Given the description of an element on the screen output the (x, y) to click on. 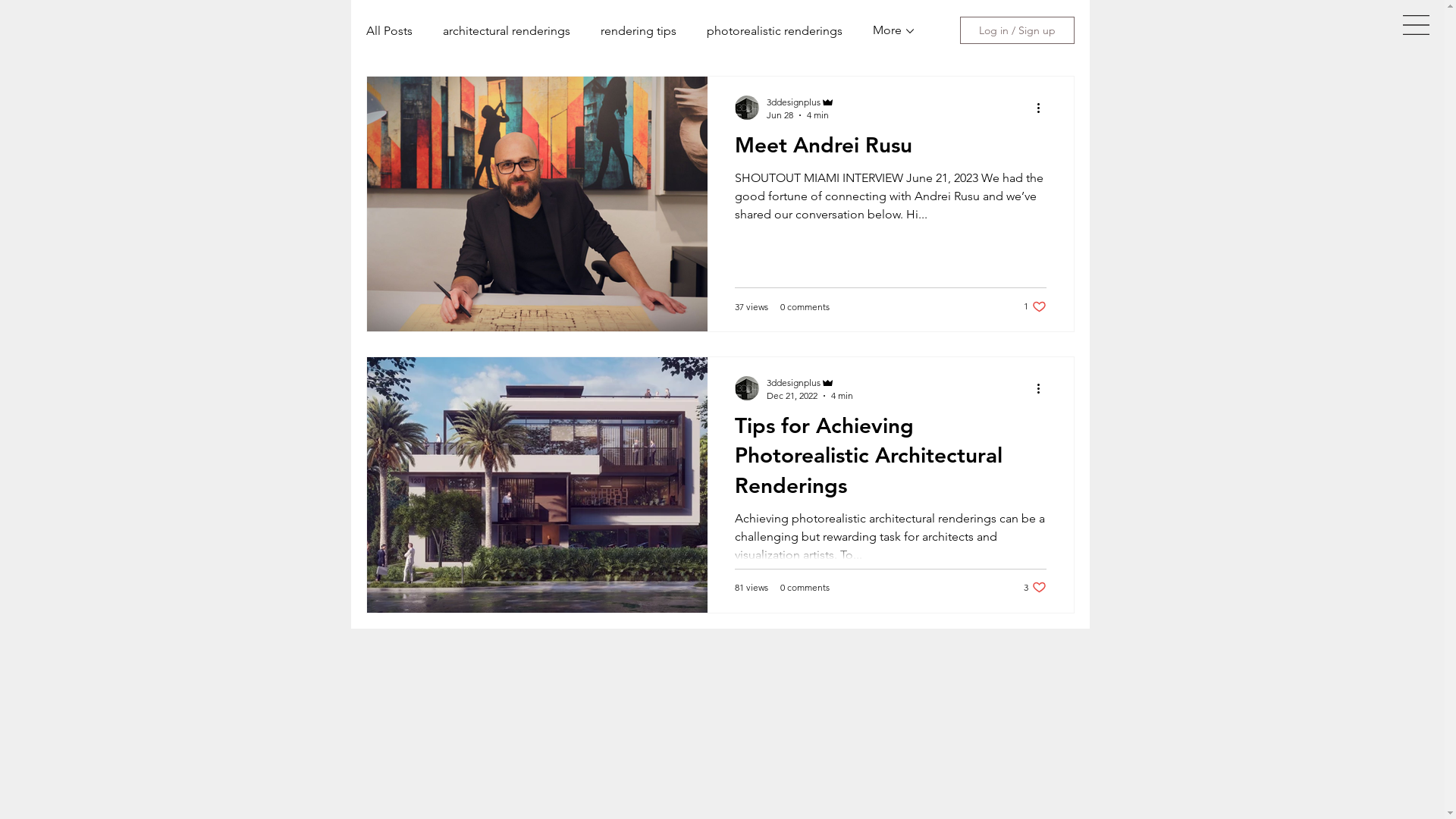
3 likes. Post not marked as liked
3 Element type: text (1034, 587)
rendering tips Element type: text (638, 29)
1 like. Post not marked as liked
1 Element type: text (1034, 306)
photorealistic renderings Element type: text (774, 29)
Log in / Sign up Element type: text (1017, 29)
0 comments Element type: text (803, 587)
0 comments Element type: text (803, 306)
All Posts Element type: text (388, 29)
Tips for Achieving Photorealistic Architectural Renderings Element type: text (889, 459)
Meet Andrei Rusu Element type: text (889, 149)
architectural renderings Element type: text (506, 29)
